Given the description of an element on the screen output the (x, y) to click on. 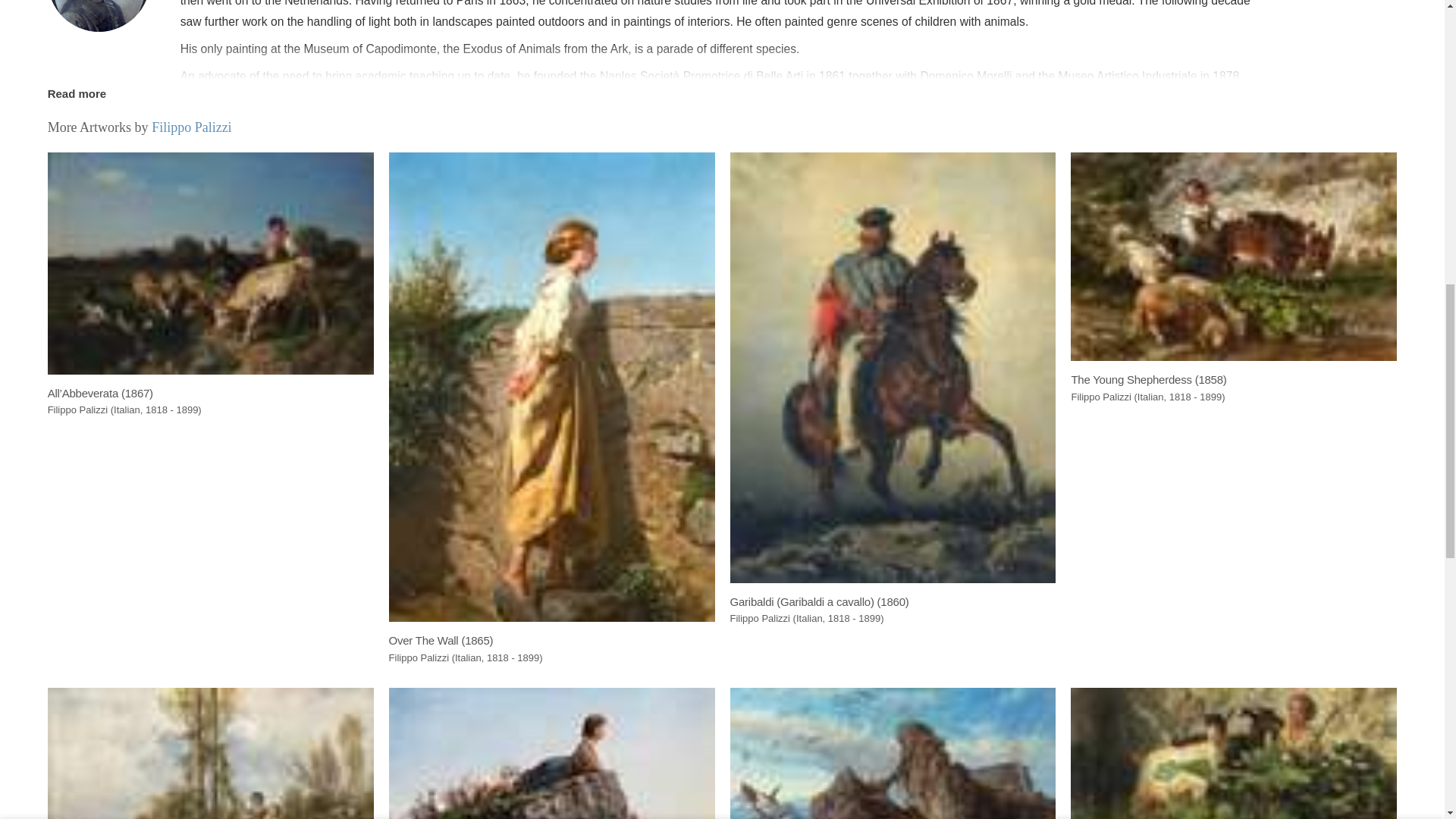
Filippo Palizzi (98, 15)
